Given the description of an element on the screen output the (x, y) to click on. 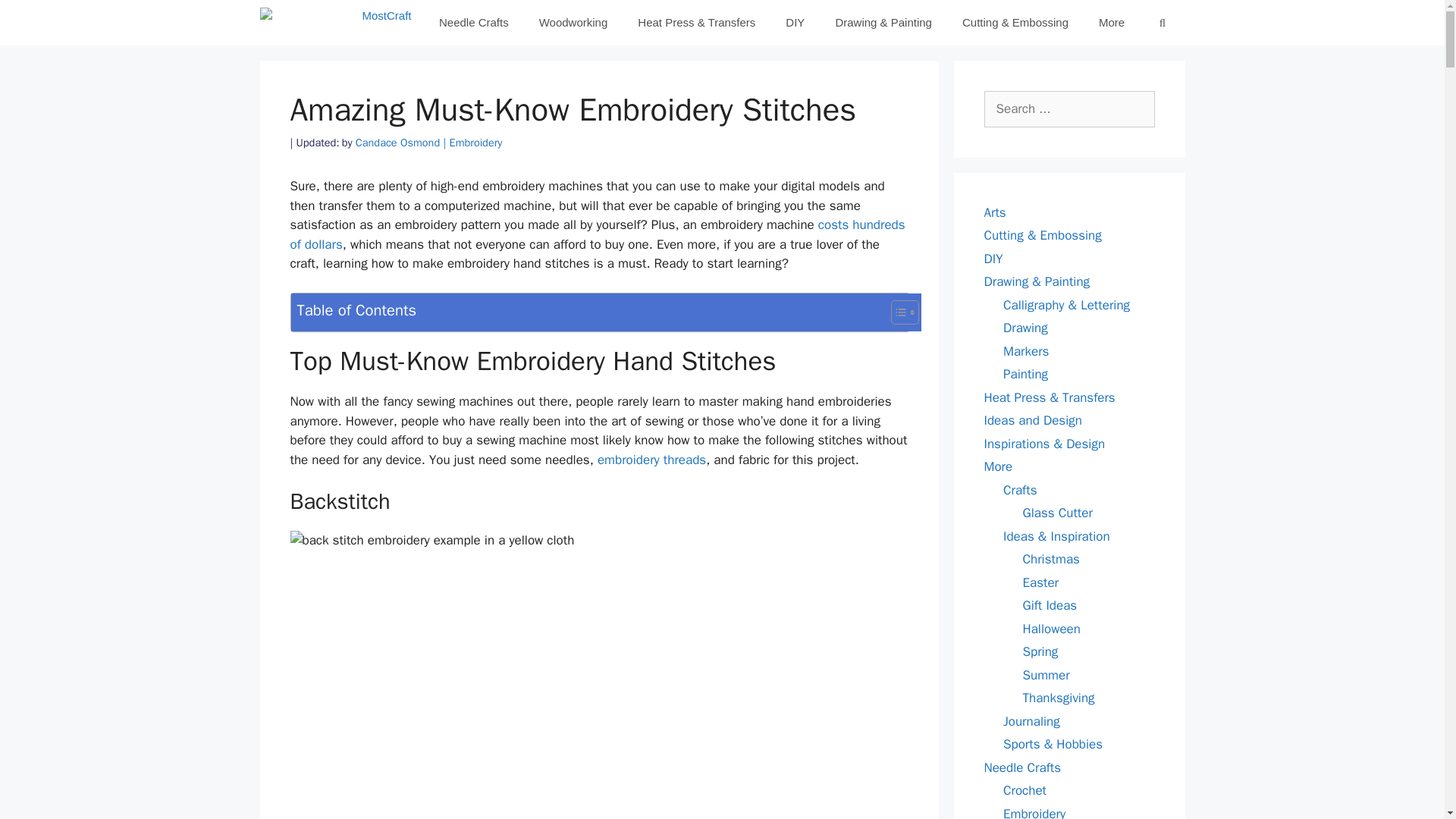
costs hundreds of dollars (596, 234)
View all posts by Candace Osmond (402, 142)
embroidery threads (651, 459)
Needle Crafts (473, 22)
DIY (794, 22)
MostCraft (334, 22)
Woodworking (573, 22)
MostCraft (339, 22)
More (1111, 22)
Embroidery (475, 142)
